Given the description of an element on the screen output the (x, y) to click on. 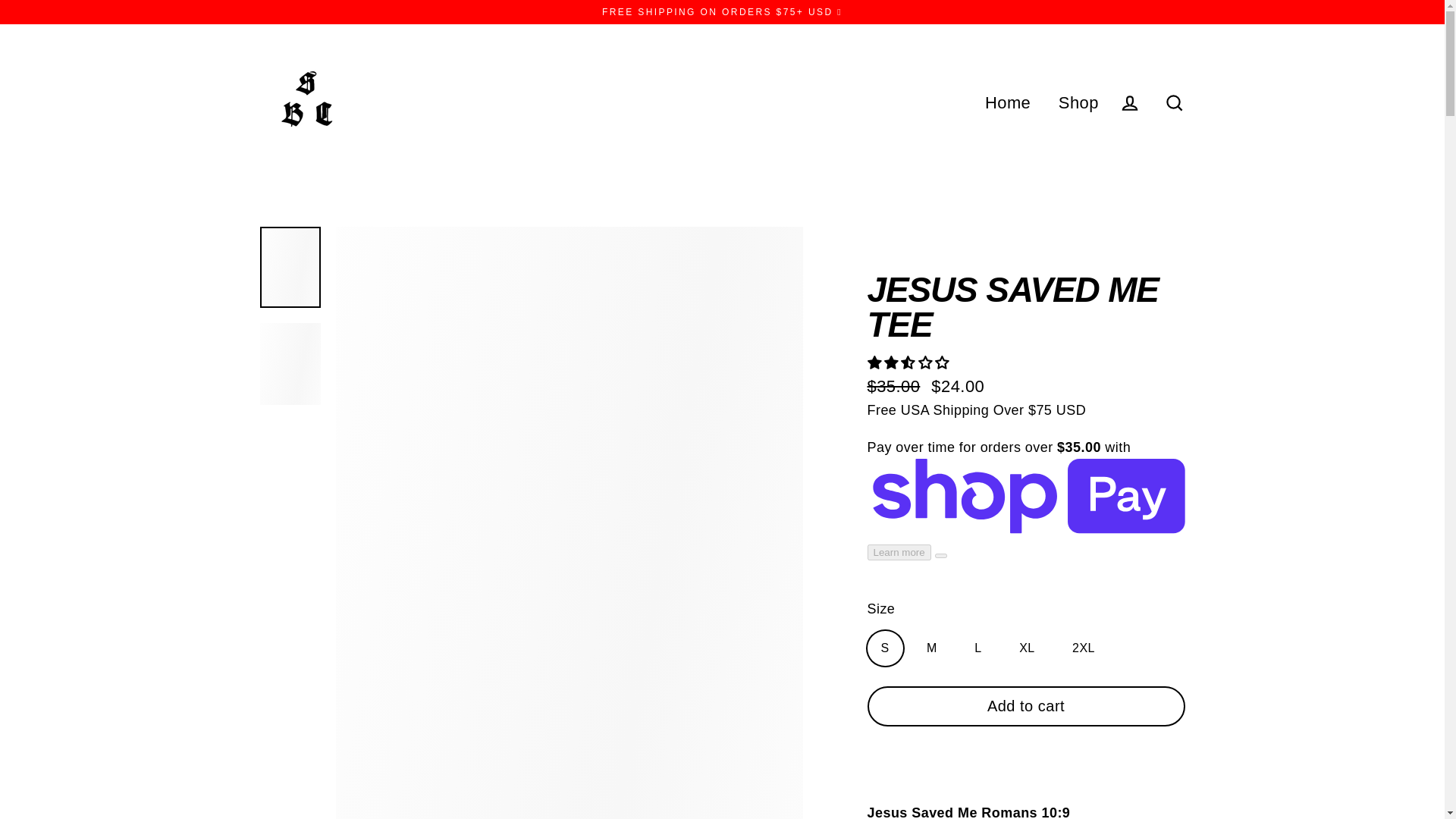
Search (1173, 102)
Shop (1077, 102)
Log in (1129, 102)
Home (1008, 102)
Add to cart (1026, 705)
